Given the description of an element on the screen output the (x, y) to click on. 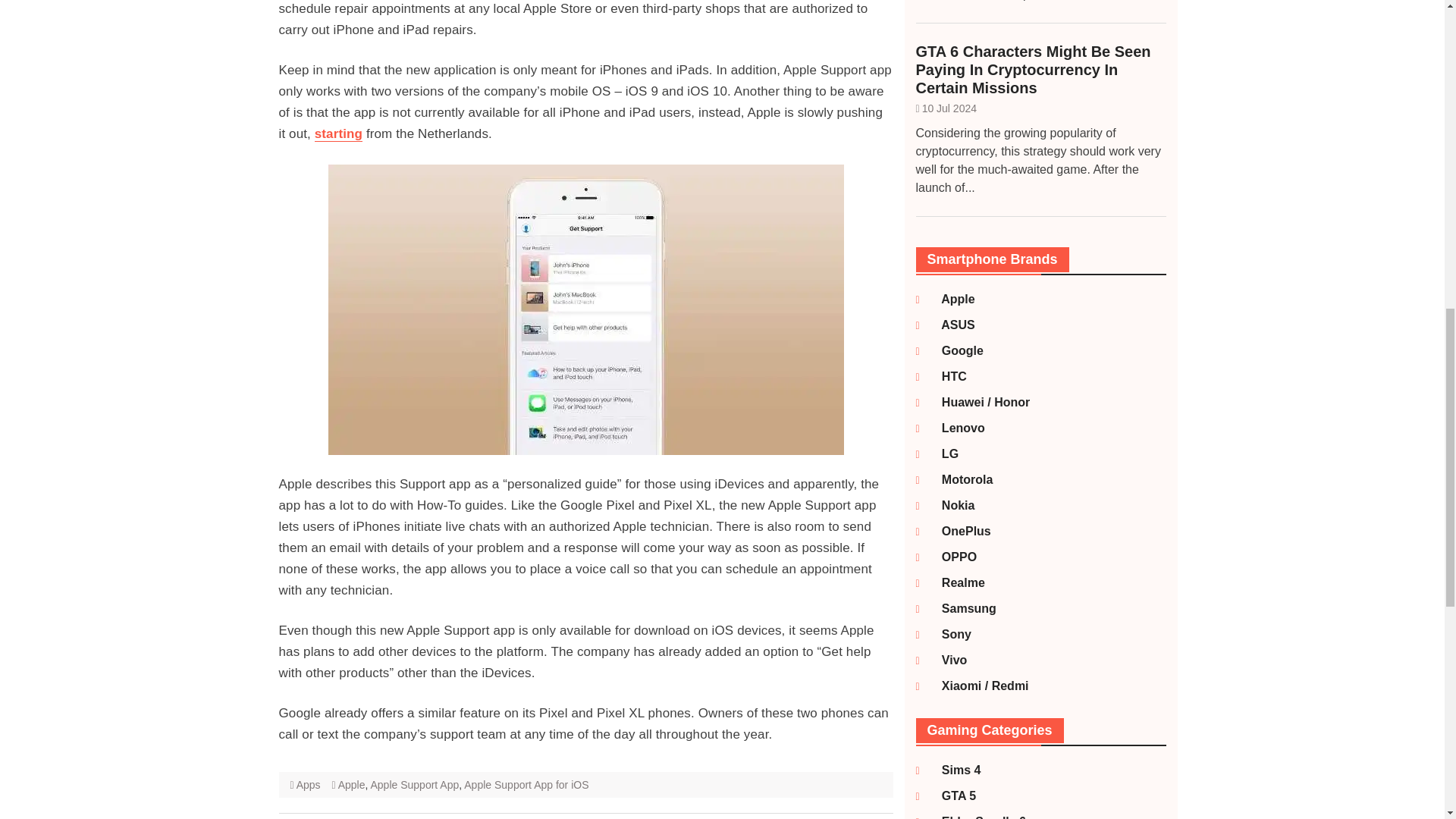
Apple Support App (413, 784)
Apps (308, 784)
Apple Support App for iOS (526, 784)
starting (338, 133)
     Apple (949, 298)
Apple (351, 784)
